Given the description of an element on the screen output the (x, y) to click on. 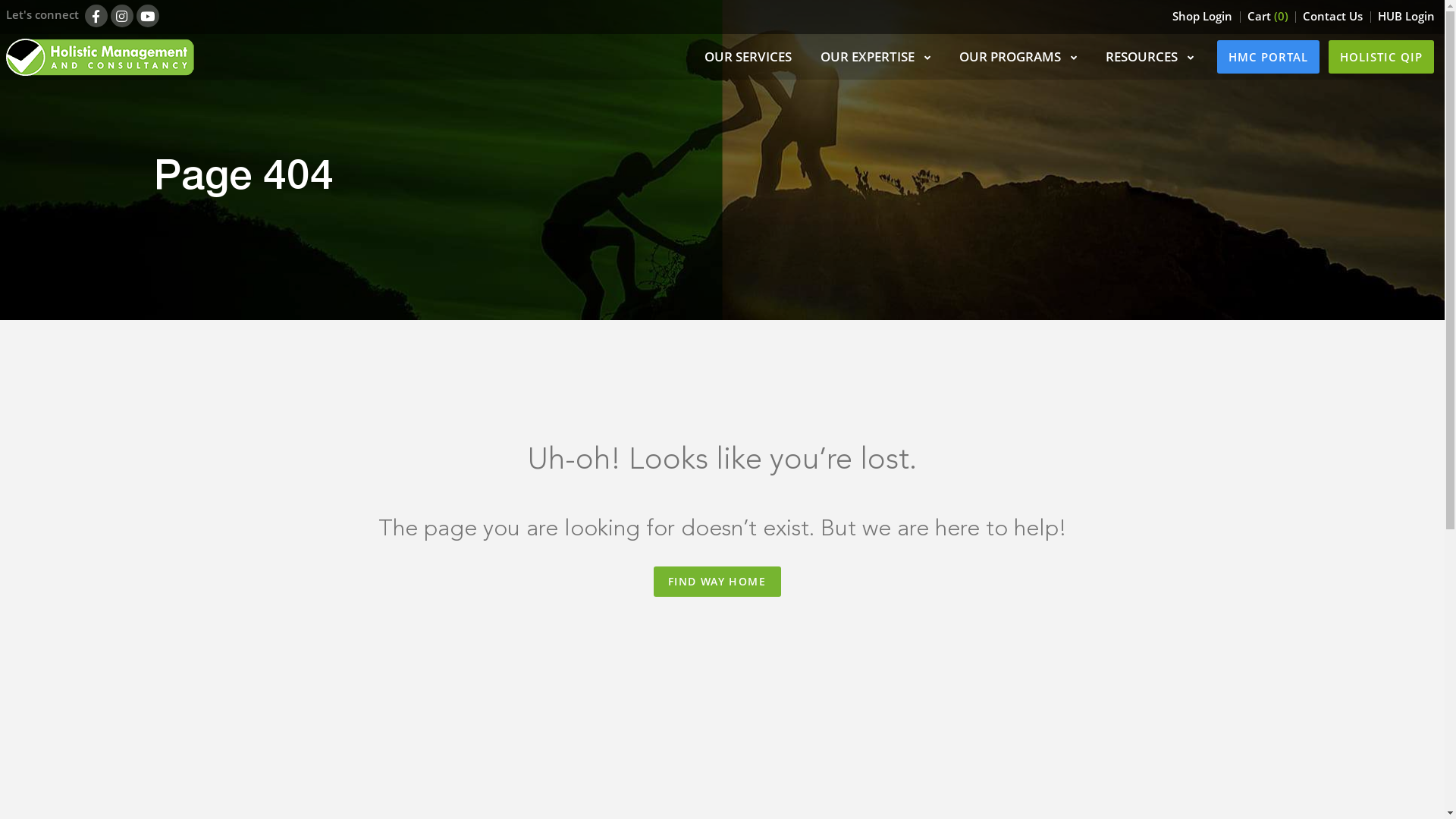
OUR PROGRAMS Element type: text (1017, 56)
FIND WAY HOME Element type: text (717, 581)
HOLISTIC QIP Element type: text (1381, 56)
HMC PORTAL Element type: text (1268, 56)
Shop Login Element type: text (1202, 15)
Contact Us Element type: text (1333, 15)
HUB Login Element type: text (1406, 15)
RESOURCES Element type: text (1149, 56)
OUR SERVICES Element type: text (747, 56)
Cart (0) Element type: text (1267, 15)
OUR EXPERTISE Element type: text (875, 56)
